Given the description of an element on the screen output the (x, y) to click on. 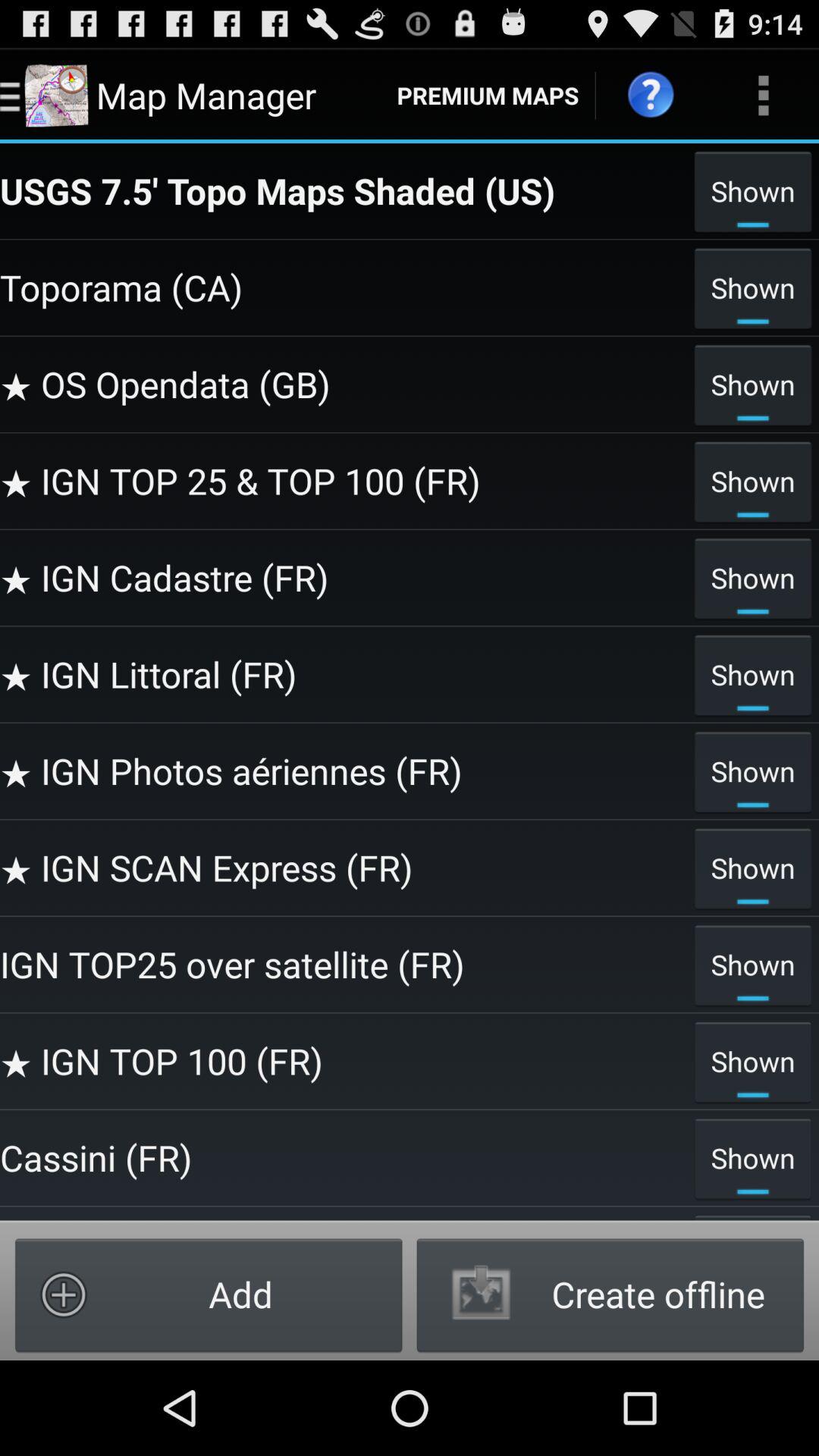
turn off the cassini (fr) item (343, 1157)
